Given the description of an element on the screen output the (x, y) to click on. 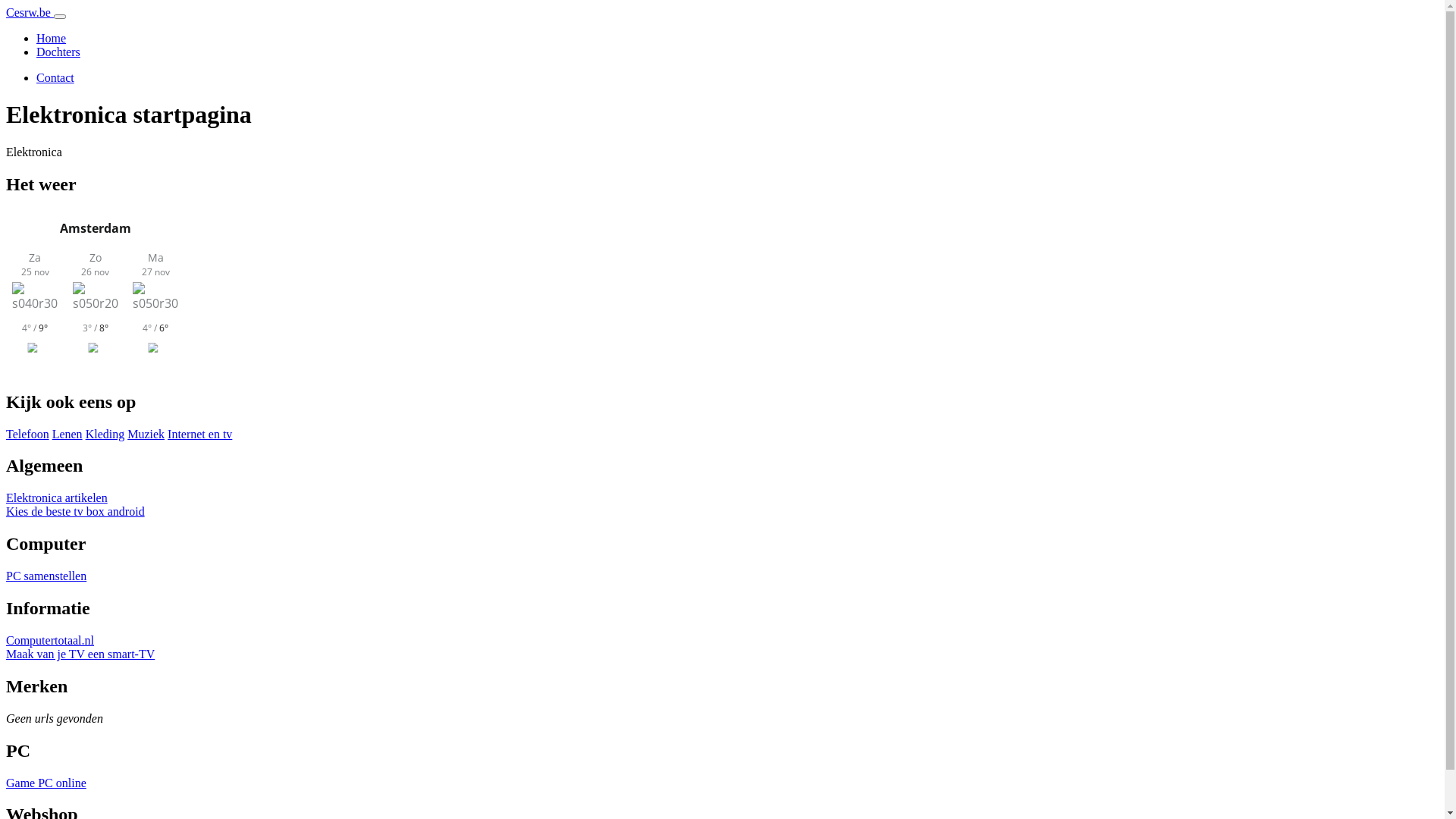
Cesrw.be Element type: text (29, 12)
Kleding Element type: text (105, 433)
Maak van je TV een smart-TV Element type: text (80, 653)
Elektronica artikelen Element type: text (56, 497)
Home Element type: text (50, 37)
Dochters Element type: text (58, 51)
Lenen Element type: text (67, 433)
Telefoon Element type: text (27, 433)
Game PC online Element type: text (46, 782)
Muziek Element type: text (145, 433)
PC samenstellen Element type: text (46, 575)
Contact Element type: text (55, 77)
Computertotaal.nl Element type: text (50, 639)
Kies de beste tv box android Element type: text (75, 511)
Internet en tv Element type: text (199, 433)
